Given the description of an element on the screen output the (x, y) to click on. 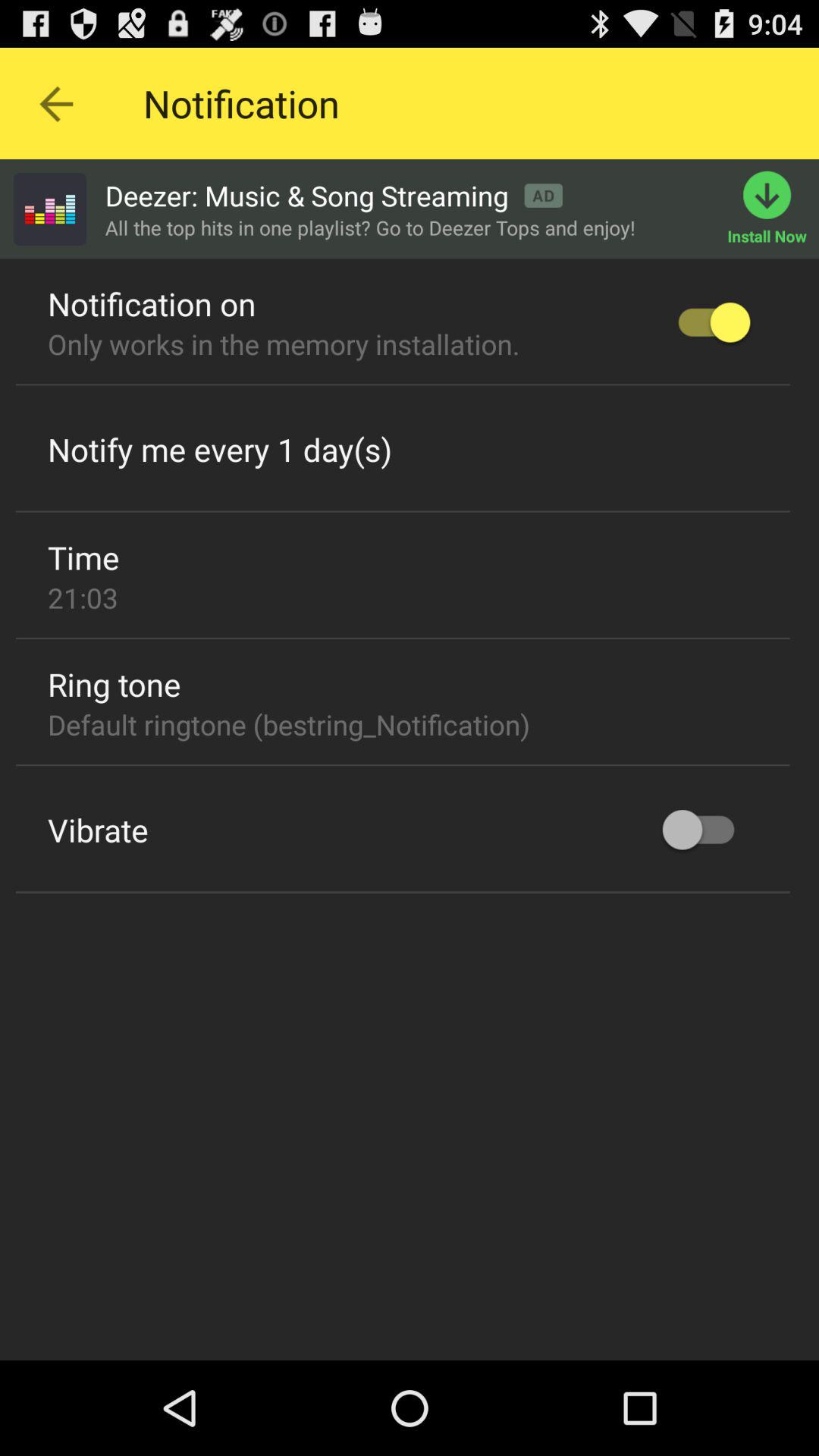
go to previous (55, 103)
